Given the description of an element on the screen output the (x, y) to click on. 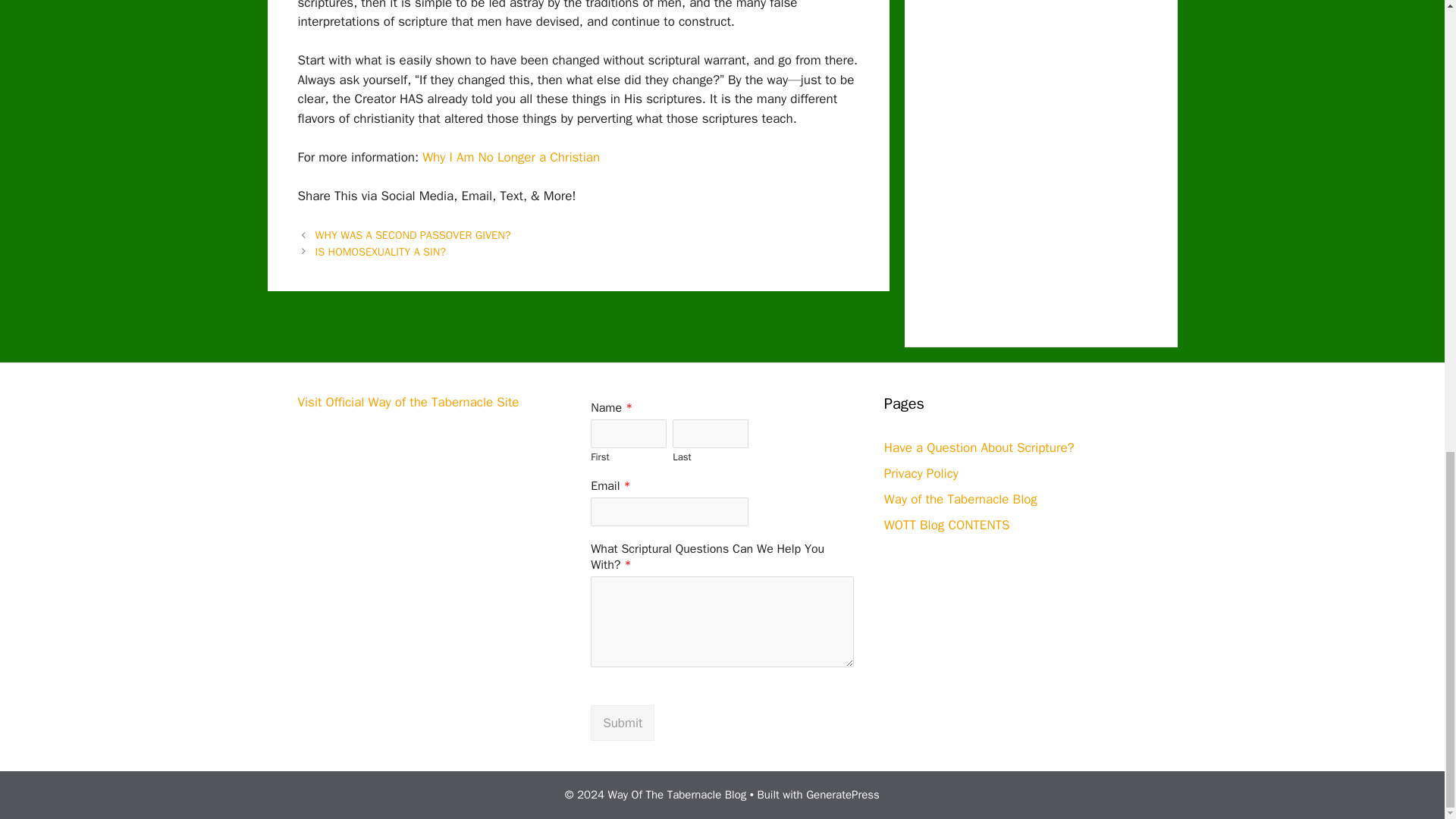
IS HOMOSEXUALITY A SIN? (380, 251)
Why I Am No Longer a Christian (510, 157)
WHY WAS A SECOND PASSOVER GIVEN? (413, 234)
